Given the description of an element on the screen output the (x, y) to click on. 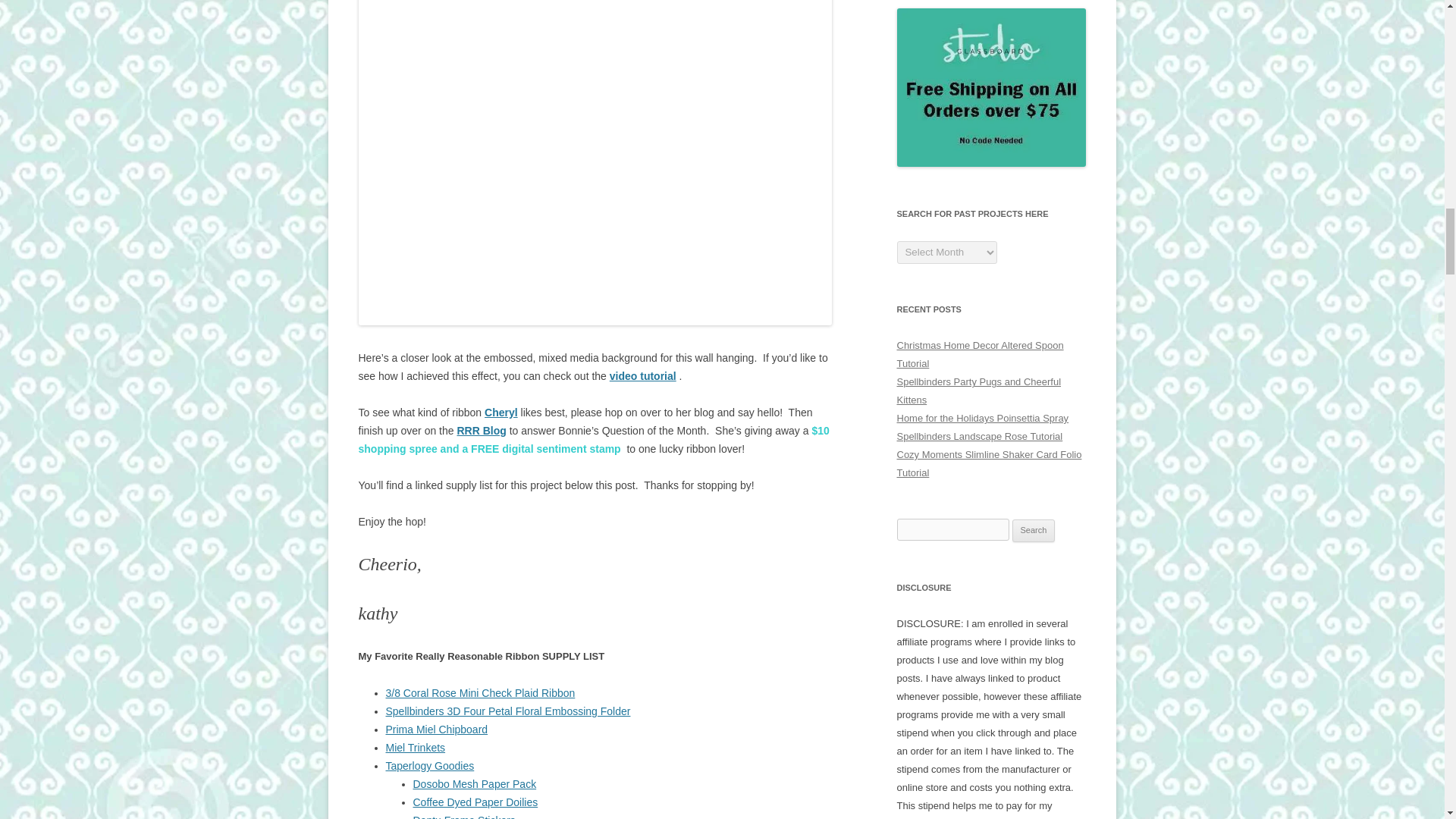
Miel Trinkets (415, 747)
Prima Miel Chipboard (436, 729)
Dosobo Mesh Paper Pack (473, 784)
RRR Blog (481, 430)
Search (1033, 530)
Dentu Frame Stickers (463, 816)
Spellbinders 3D Four Petal Floral Embossing Folder (507, 711)
Cheryl (501, 412)
Taperlogy Goodies (429, 766)
Coffee Dyed Paper Doilies (474, 802)
video tutorial (643, 376)
